Given the description of an element on the screen output the (x, y) to click on. 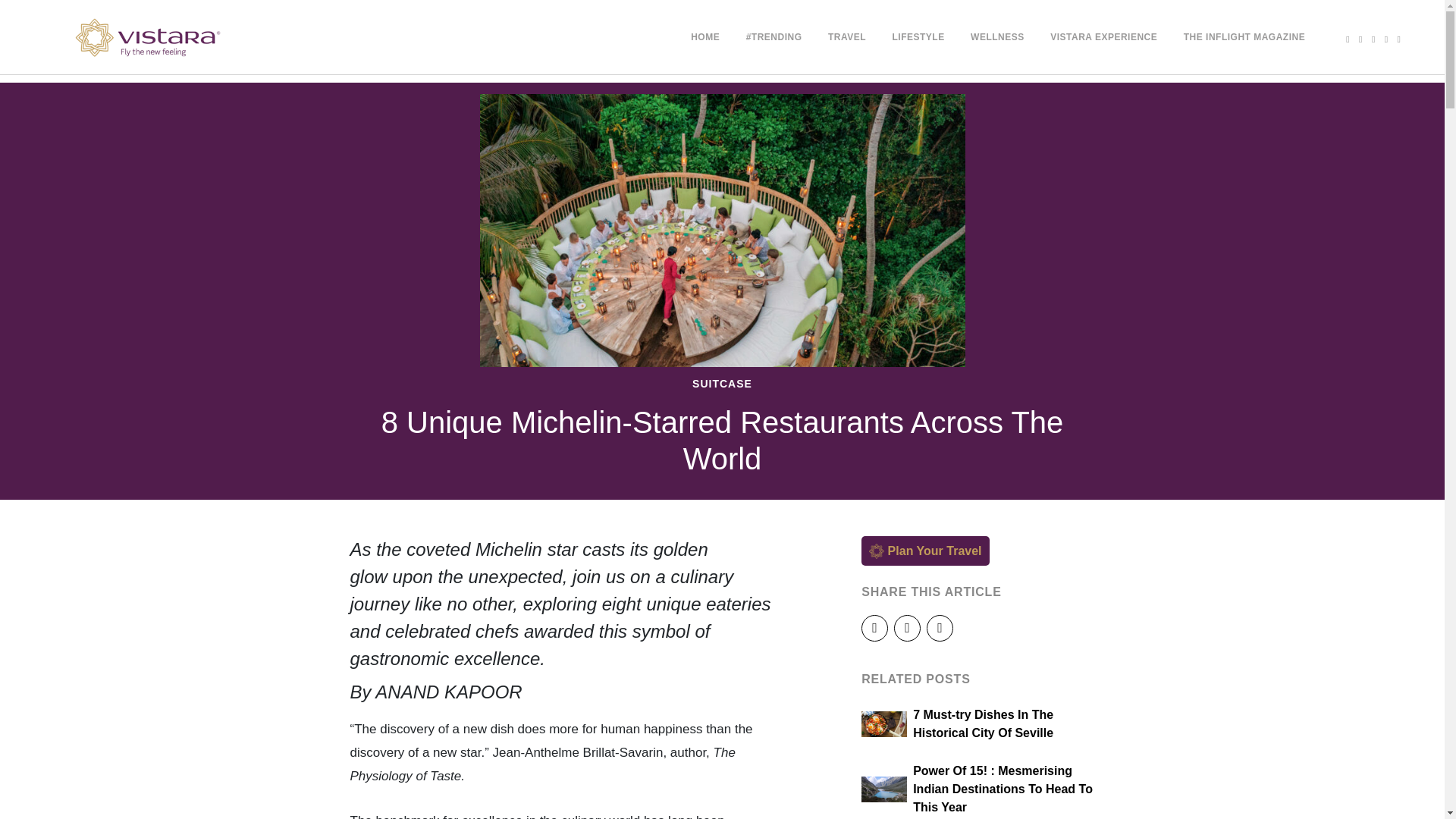
SUITCASE (722, 382)
LIFESTYLE (917, 36)
7 Must-try Dishes In The Historical City Of Seville (977, 723)
WELLNESS (998, 36)
VISTARA EXPERIENCE (1103, 36)
HOME (704, 36)
THE INFLIGHT MAGAZINE (1244, 36)
TRAVEL (847, 36)
